Given the description of an element on the screen output the (x, y) to click on. 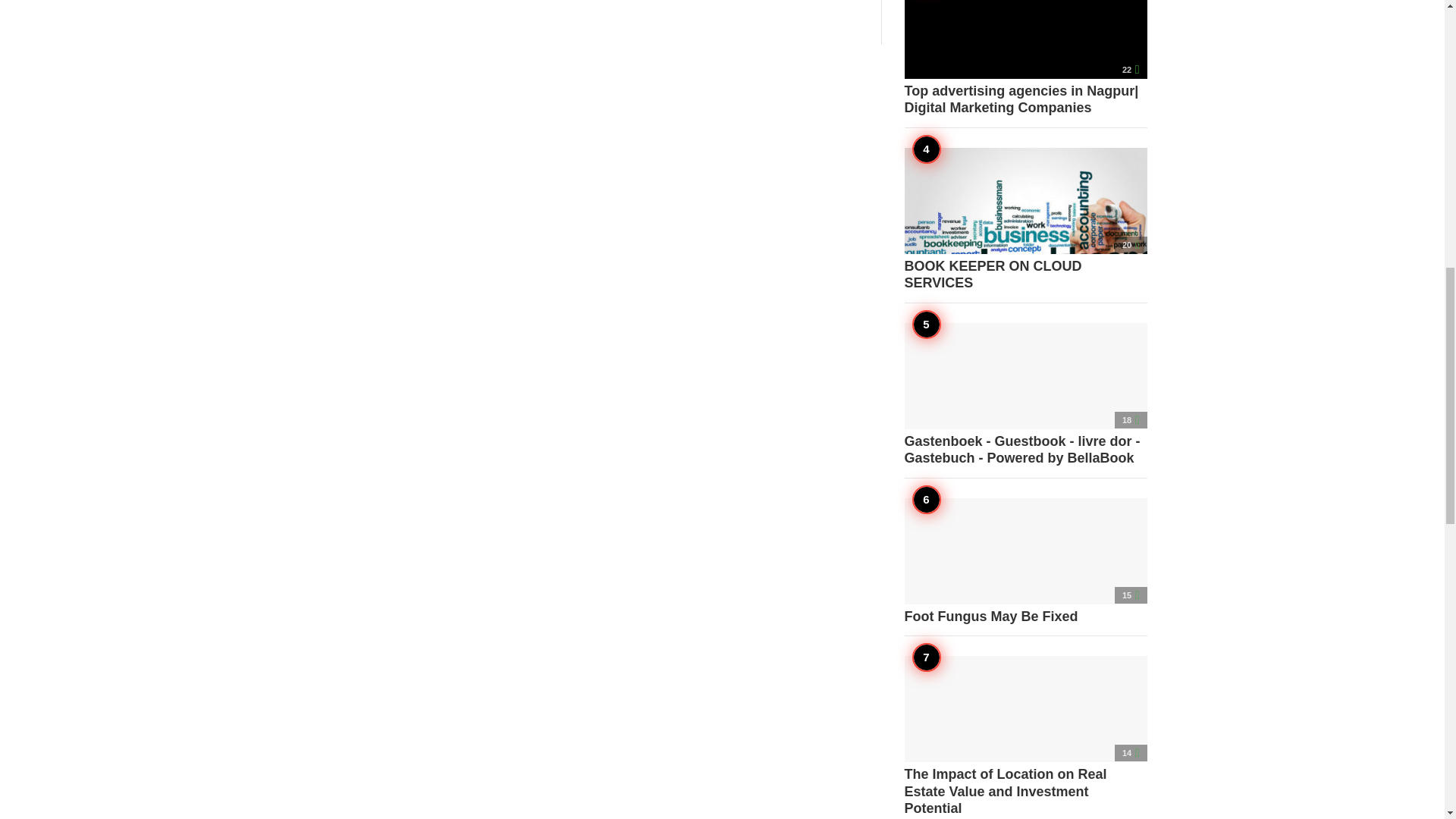
BOOK KEEPER ON CLOUD SERVICES (1025, 219)
Foot Fungus May Be Fixed (1025, 560)
